Given the description of an element on the screen output the (x, y) to click on. 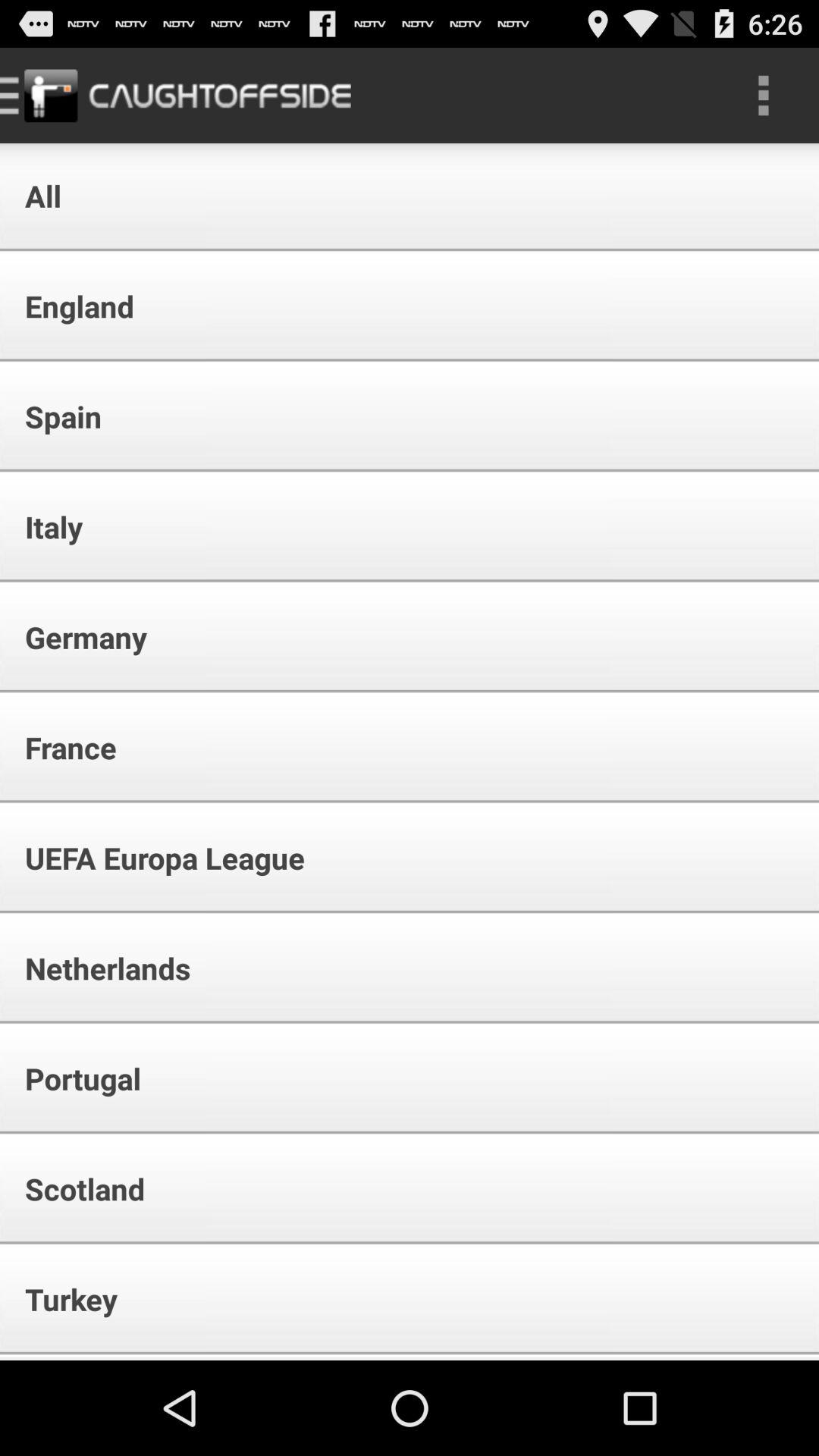
swipe until portugal icon (73, 1078)
